Given the description of an element on the screen output the (x, y) to click on. 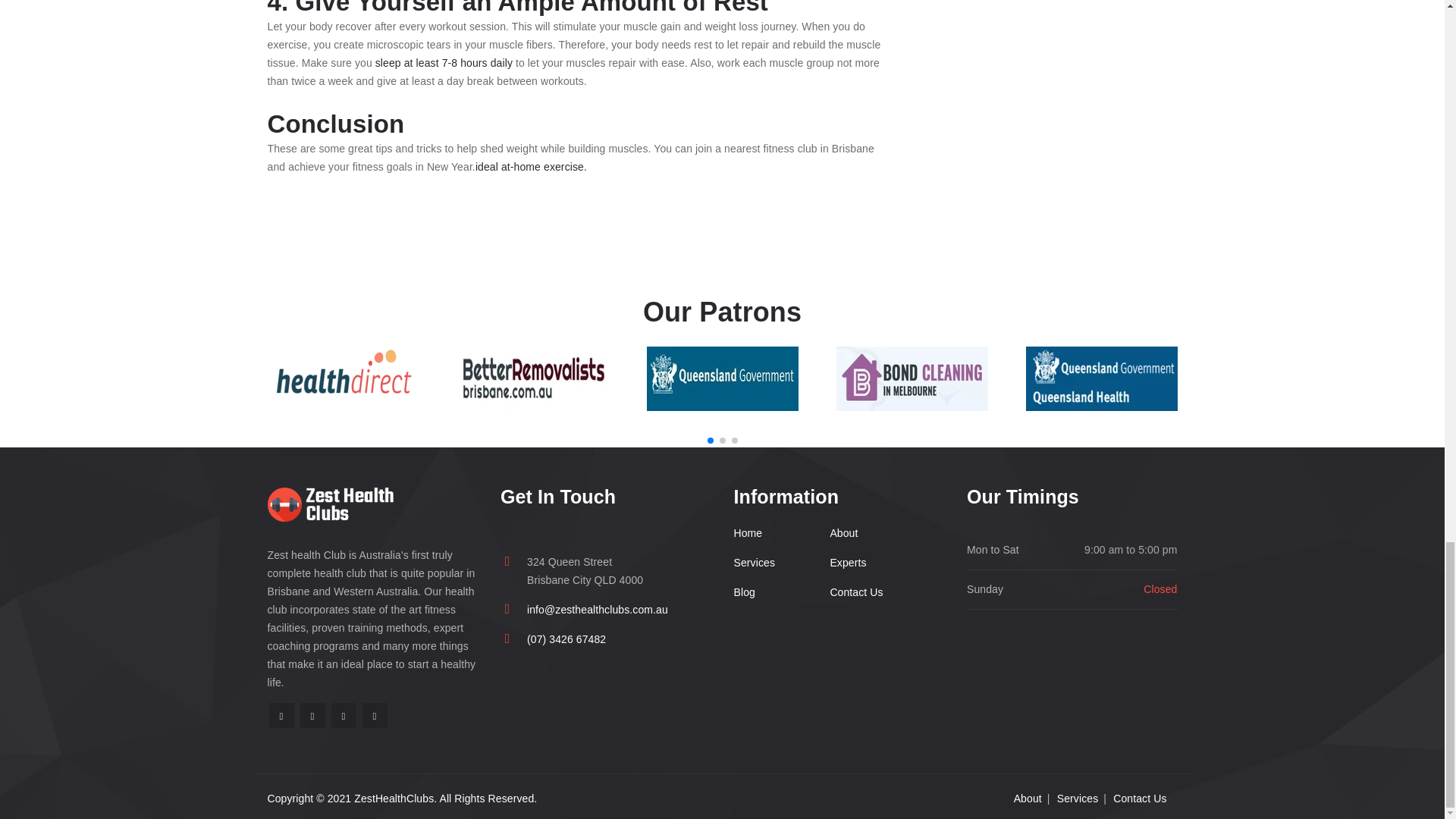
sleep at least 7-8 hours daily (443, 62)
ideal at-home exercise. (531, 166)
healthdirect (342, 378)
qld (721, 378)
Cheap Removalists Brisbane (532, 378)
Best End of Lease Cleaning Melbourne (911, 378)
qgqh (1100, 378)
